Given the description of an element on the screen output the (x, y) to click on. 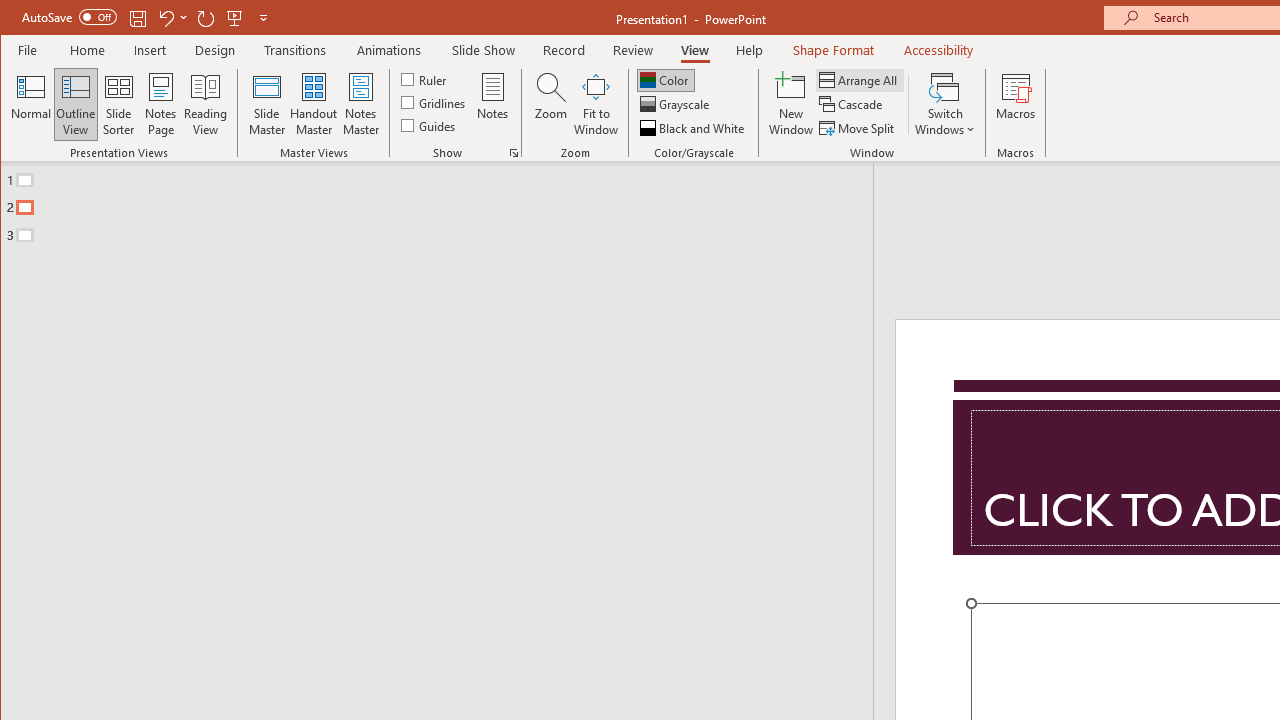
Ruler (425, 78)
Gridlines (435, 101)
New Window (791, 104)
Move Split (858, 127)
Handout Master (314, 104)
Black and White (694, 127)
